Given the description of an element on the screen output the (x, y) to click on. 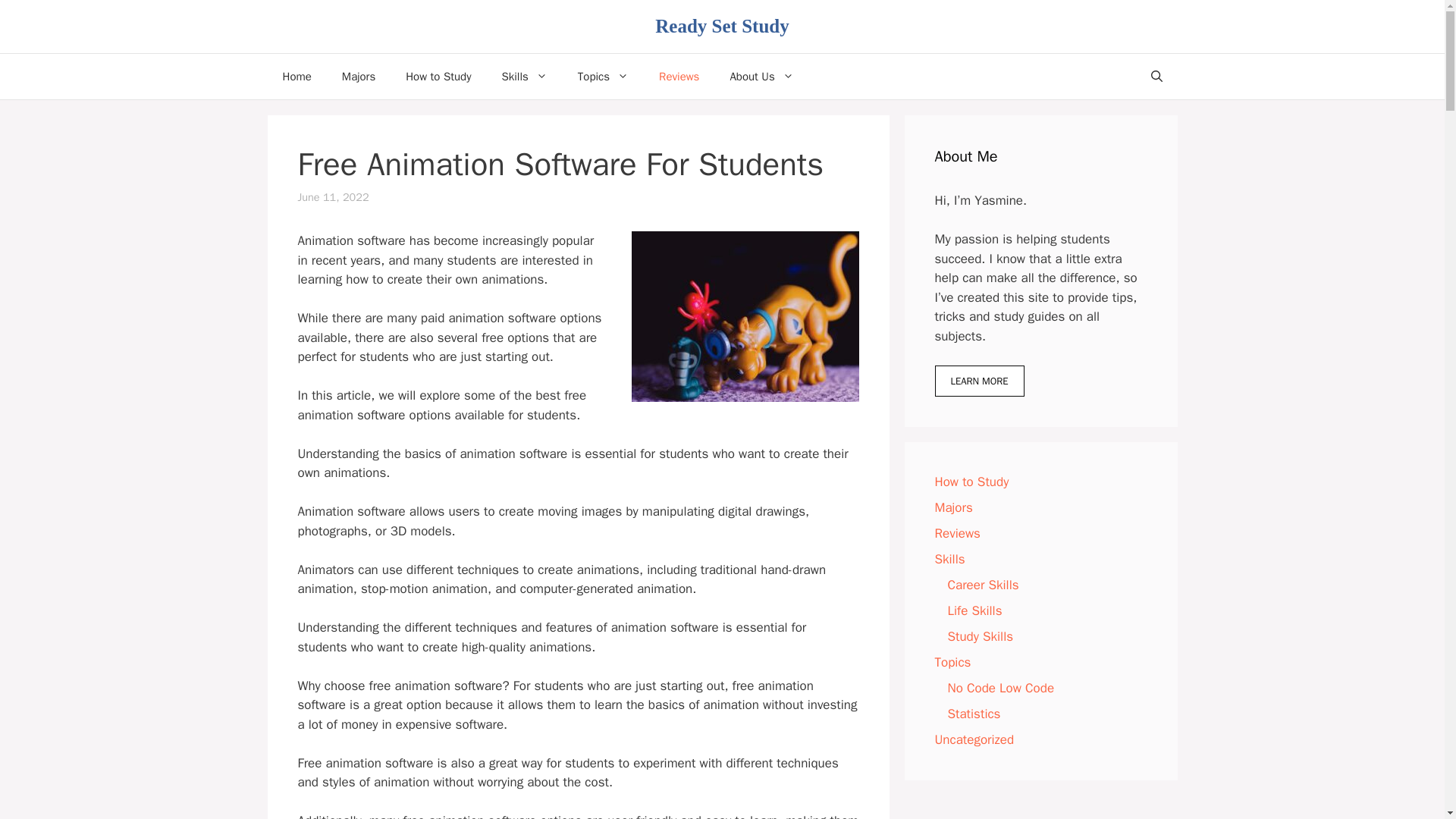
How to Study (438, 76)
Skills (524, 76)
Topics (602, 76)
About Us (761, 76)
Majors (358, 76)
Ready Set Study (722, 25)
Reviews (678, 76)
Home (296, 76)
